Given the description of an element on the screen output the (x, y) to click on. 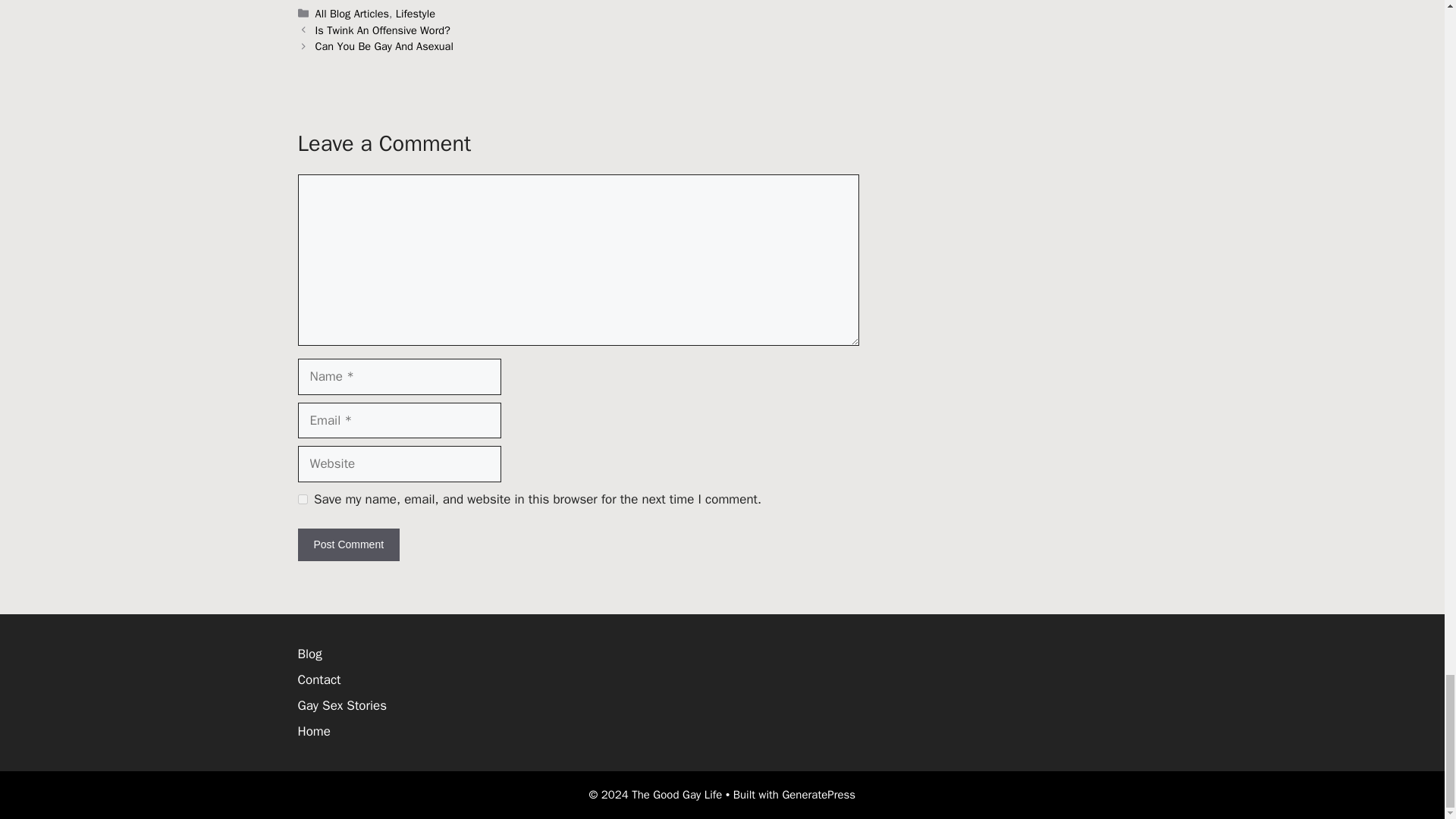
Post Comment (347, 544)
Blog (309, 653)
Post Comment (347, 544)
Is Twink An Offensive Word? (382, 29)
yes (302, 499)
Can You Be Gay And Asexual (383, 46)
Contact (318, 679)
Lifestyle (415, 13)
All Blog Articles (351, 13)
Home (313, 731)
Gay Sex Stories (341, 705)
GeneratePress (818, 794)
